Given the description of an element on the screen output the (x, y) to click on. 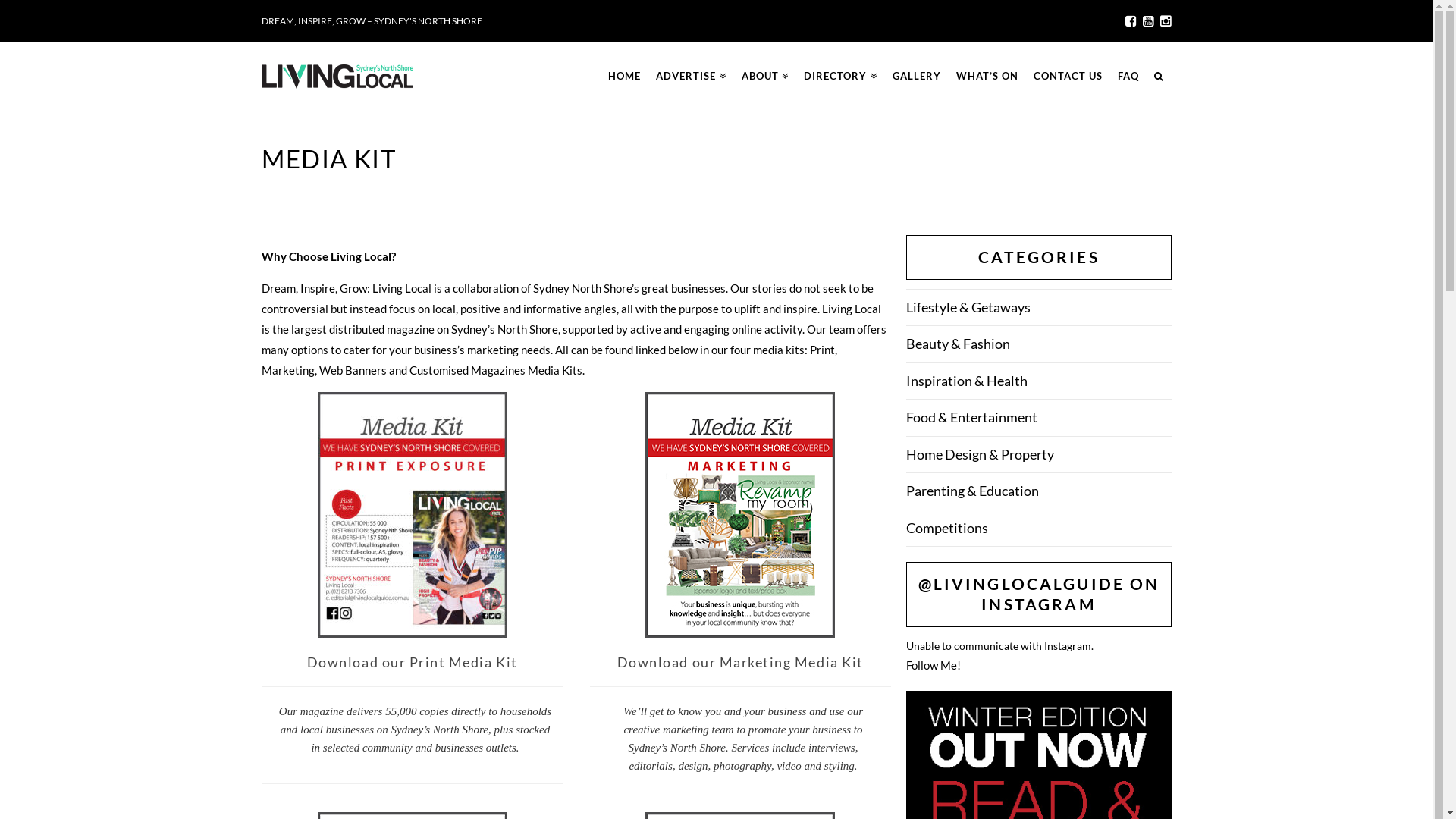
ABOUT Element type: text (765, 76)
Follow Me! Element type: text (933, 664)
HOME Element type: text (623, 76)
Home Design & Property Element type: text (980, 454)
Lifestyle & Getaways Element type: text (968, 307)
Inspiration & Health Element type: text (966, 381)
Download our Print Media Kit Element type: text (412, 661)
CONTACT US Element type: text (1068, 76)
Facebook Element type: hover (1130, 21)
GALLERY Element type: text (916, 76)
Your local guide Element type: hover (337, 76)
Download our Marketing Media Kit Element type: text (740, 661)
ADVERTISE Element type: text (691, 76)
YouTube Element type: hover (1148, 21)
Food & Entertainment Element type: text (971, 417)
Parenting & Education Element type: text (972, 491)
FAQ Element type: text (1128, 76)
Instagram Element type: hover (1165, 21)
DIRECTORY Element type: text (840, 76)
Competitions Element type: text (947, 528)
Beauty & Fashion Element type: text (958, 344)
